Given the description of an element on the screen output the (x, y) to click on. 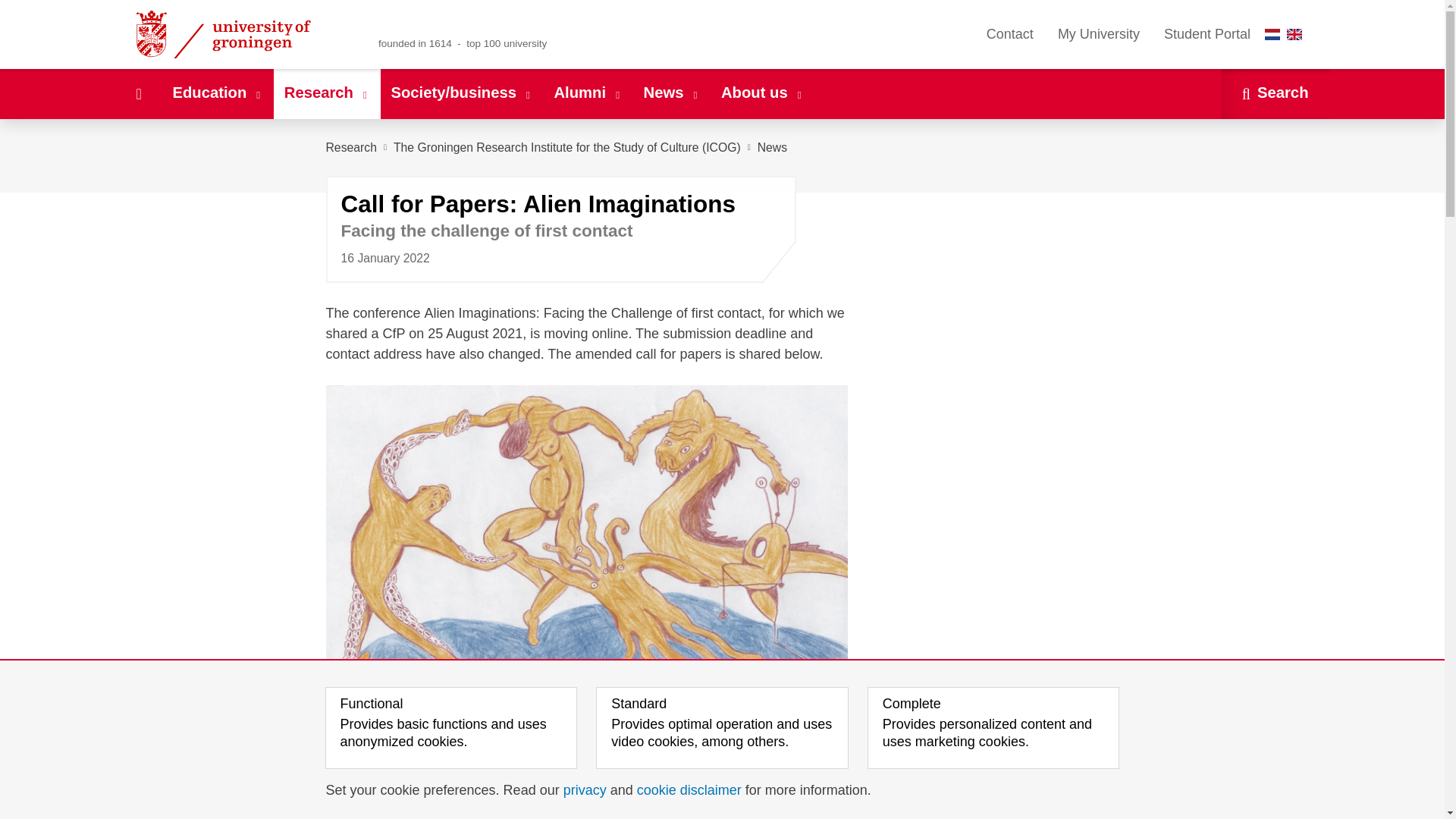
English (1293, 33)
Home (138, 93)
Nederlands (1272, 33)
Research (326, 93)
Student Portal (1206, 34)
Contact (1009, 34)
Language select (1286, 34)
University of Groningen (241, 34)
Education (217, 93)
My University (1098, 34)
